Given the description of an element on the screen output the (x, y) to click on. 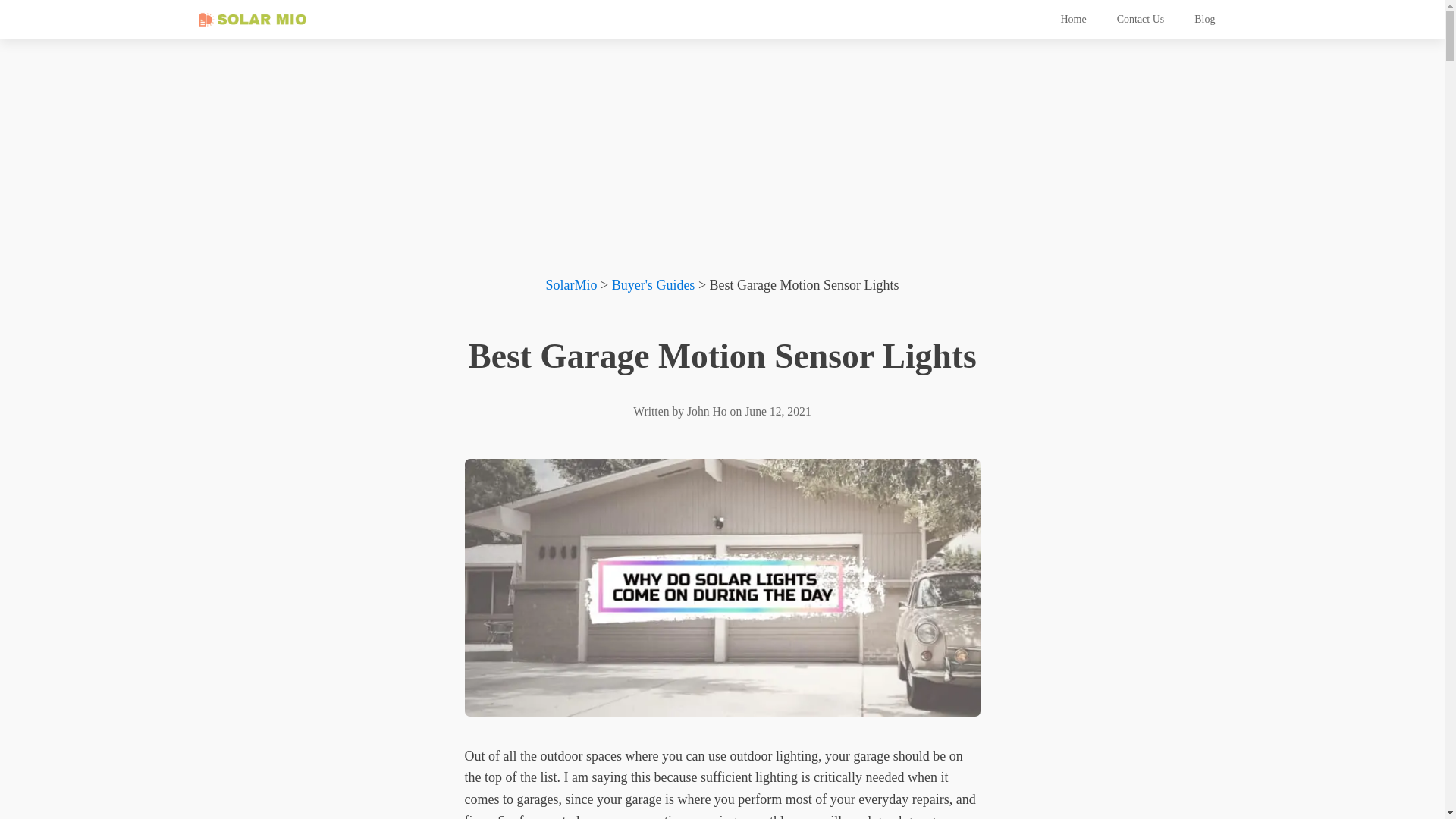
Buyer's Guides (653, 284)
SolarMio (570, 284)
Contact Us (1140, 19)
Go to the Buyer's Guides Category archives. (653, 284)
Go to SolarMio. (570, 284)
Home (1072, 19)
Blog (1204, 19)
